Given the description of an element on the screen output the (x, y) to click on. 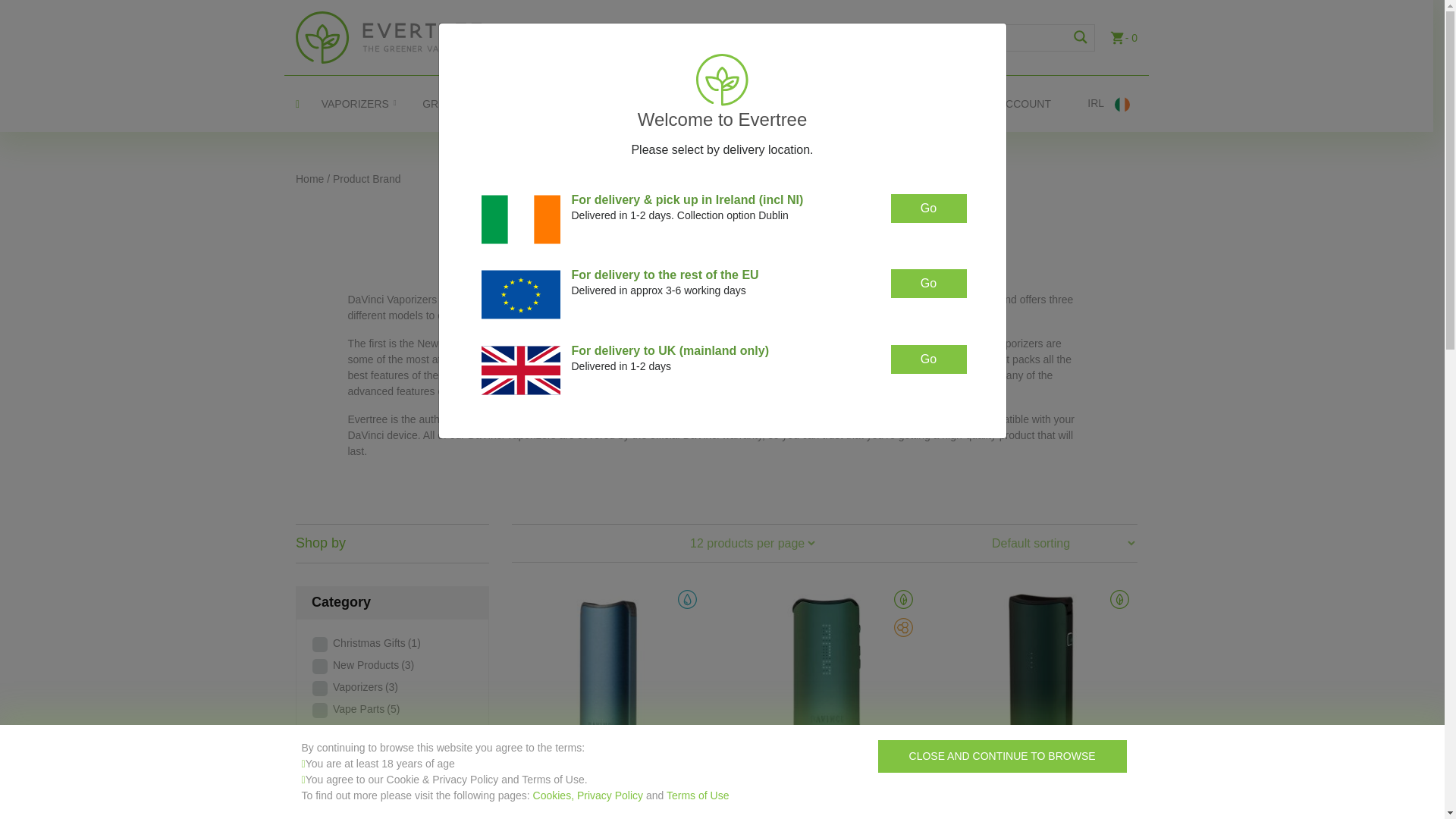
VAPORIZERS (354, 104)
cart-url (1123, 37)
Search (1081, 37)
- 0 (1123, 37)
Evertree (388, 36)
